Given the description of an element on the screen output the (x, y) to click on. 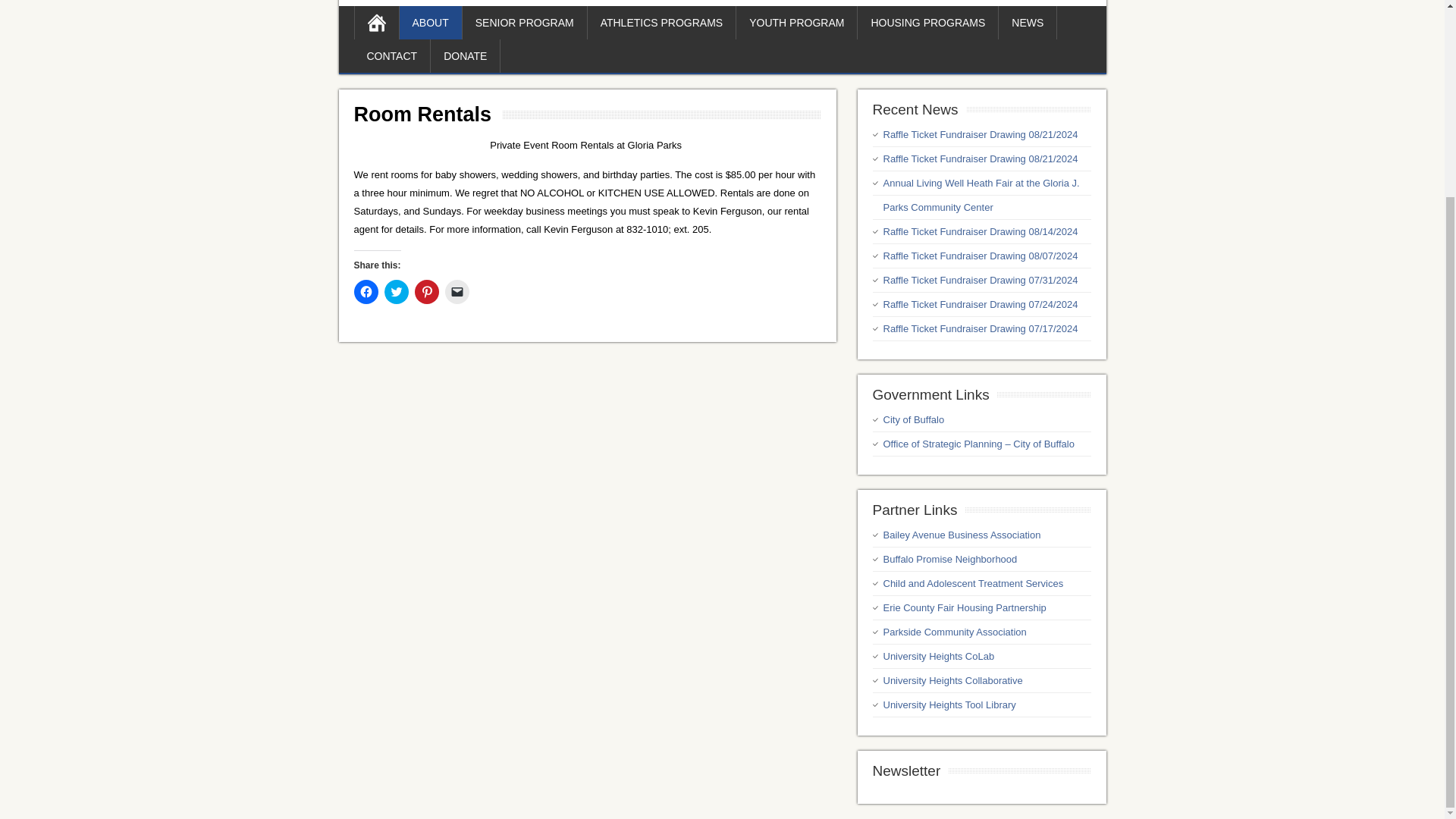
Click to share on Twitter (395, 291)
Click to share on Facebook (365, 291)
SENIOR PROGRAM (525, 22)
HOUSING PROGRAMS (927, 22)
Click to email a link to a friend (456, 291)
ABOUT (429, 22)
ATHLETICS PROGRAMS (662, 22)
Click to share on Pinterest (425, 291)
